Given the description of an element on the screen output the (x, y) to click on. 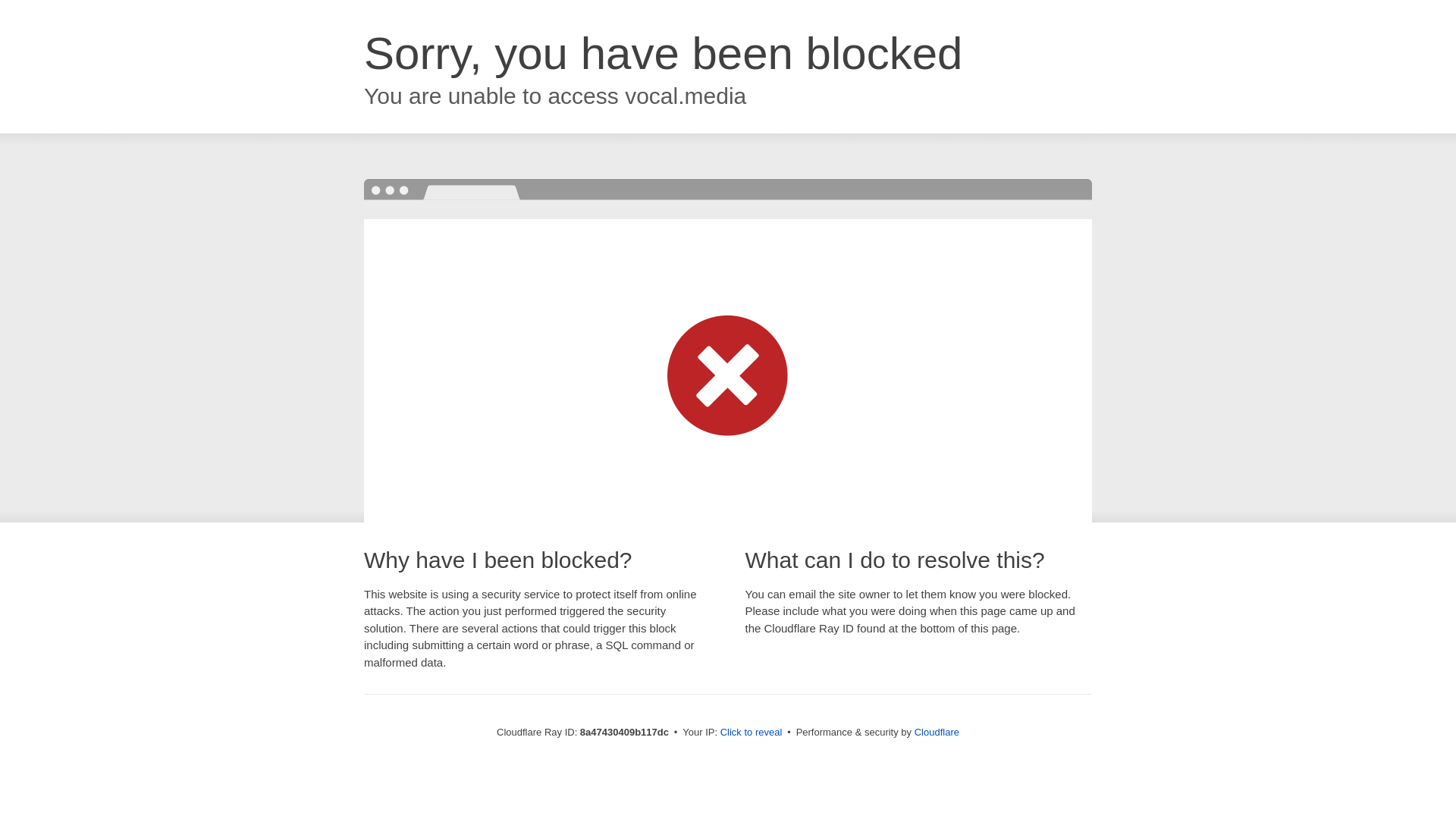
Click to reveal (751, 732)
Cloudflare (936, 731)
